Given the description of an element on the screen output the (x, y) to click on. 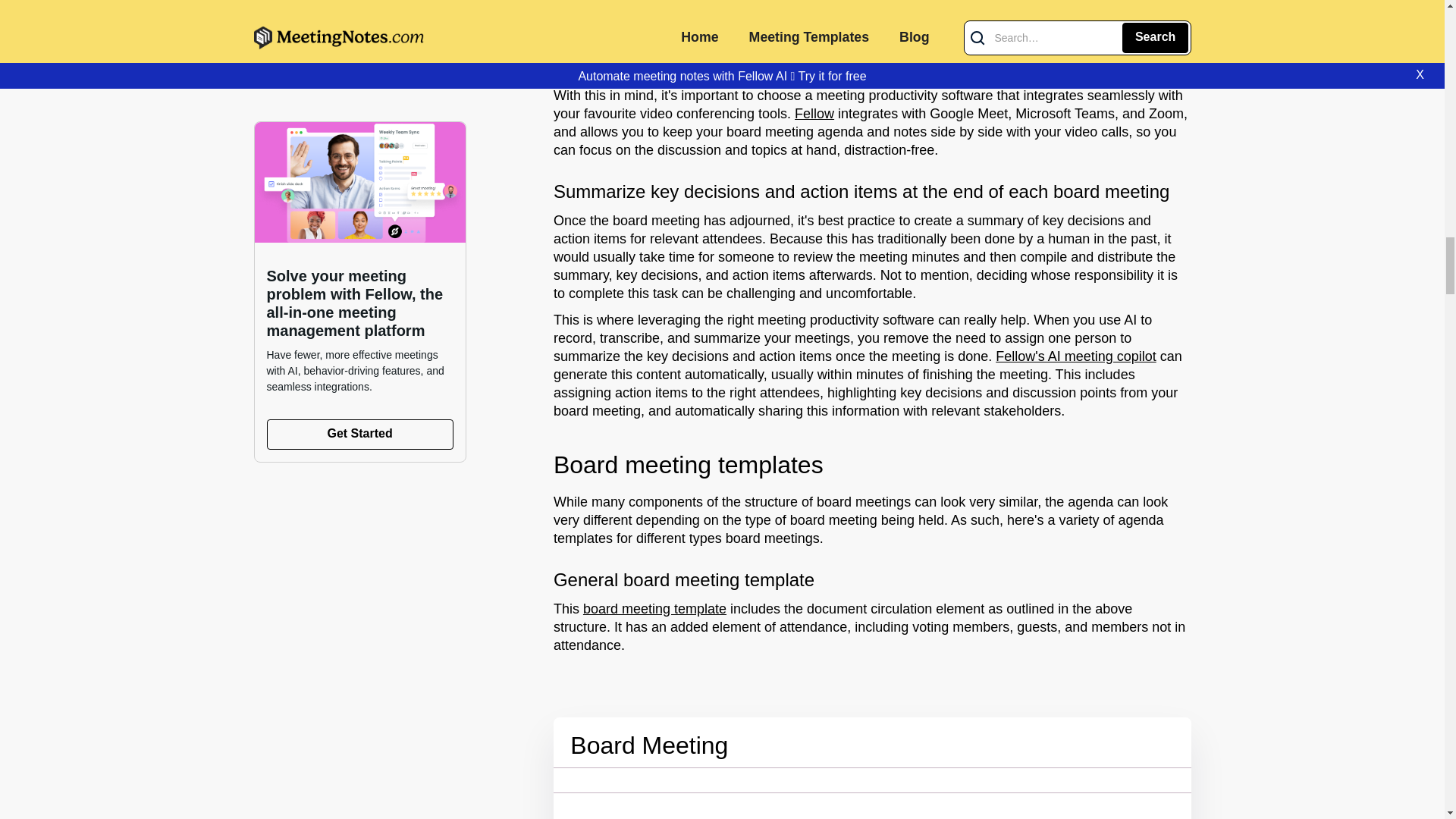
Fellow (814, 114)
Fellow's AI meeting copilot (1075, 356)
board meeting template (654, 609)
